Given the description of an element on the screen output the (x, y) to click on. 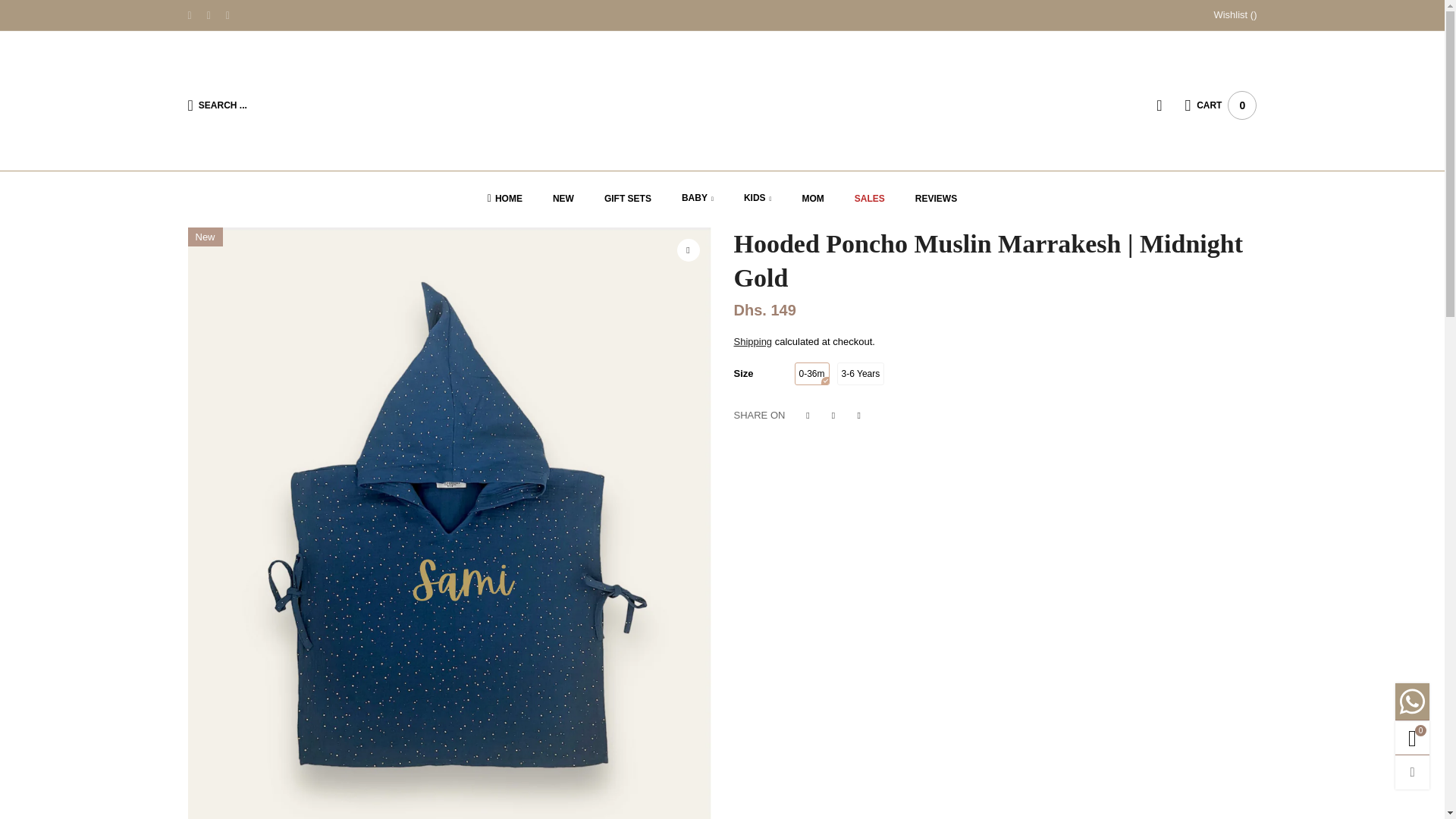
New (563, 198)
Mom (813, 198)
Home (504, 198)
Reviews (935, 198)
GIFT SETS (627, 198)
Login (1170, 104)
Sign In (1120, 273)
Kids (757, 198)
NEW (563, 198)
KIDS (757, 198)
Wishlist (1234, 15)
Pinterest (208, 15)
BABY (697, 198)
Instagram (227, 15)
Facebook (189, 15)
